Given the description of an element on the screen output the (x, y) to click on. 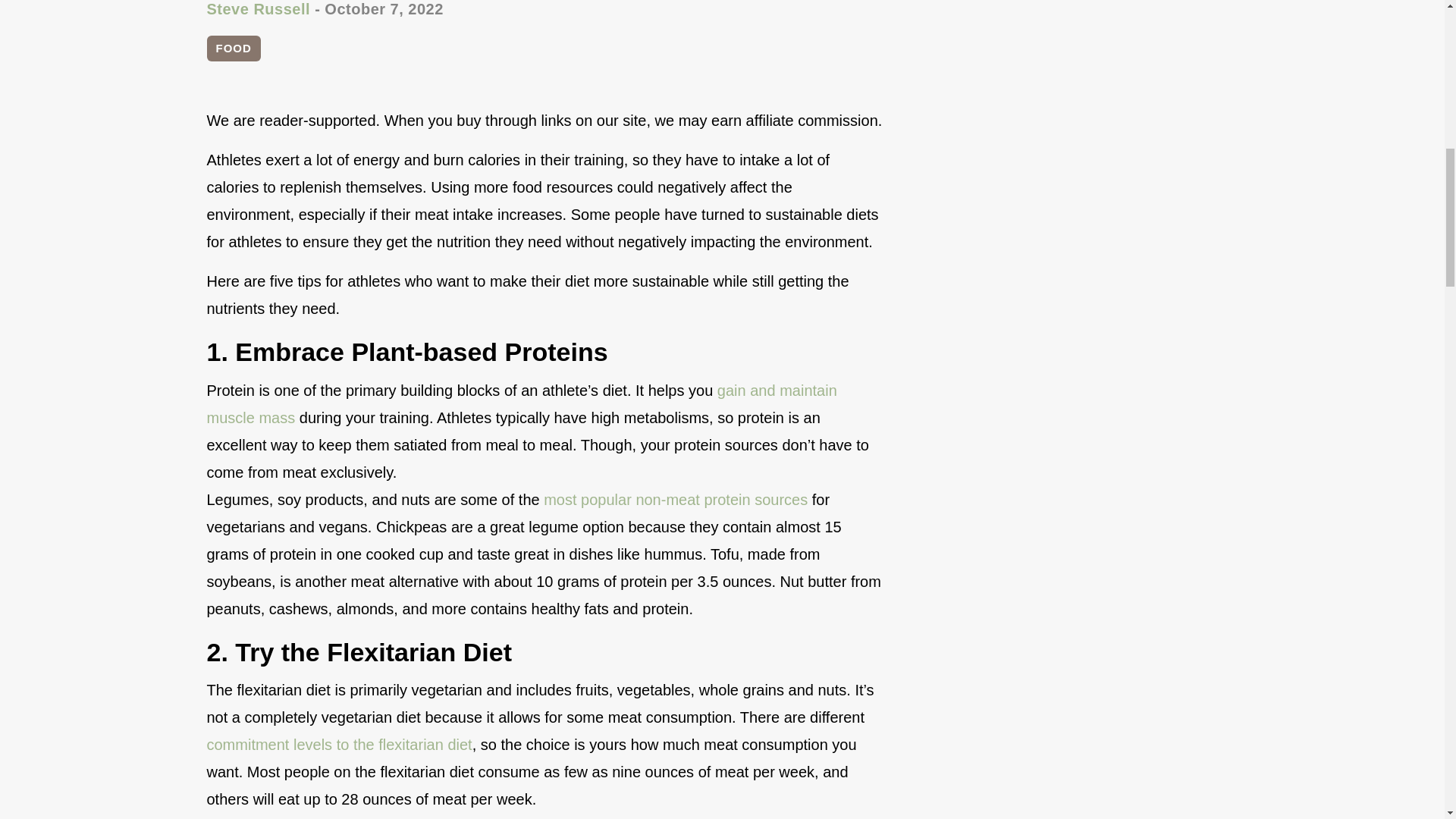
commitment levels to the flexitarian diet (338, 744)
Steve Russell (258, 8)
gain and maintain muscle mass (520, 403)
most popular non-meat protein sources (675, 499)
FOOD (233, 48)
